Given the description of an element on the screen output the (x, y) to click on. 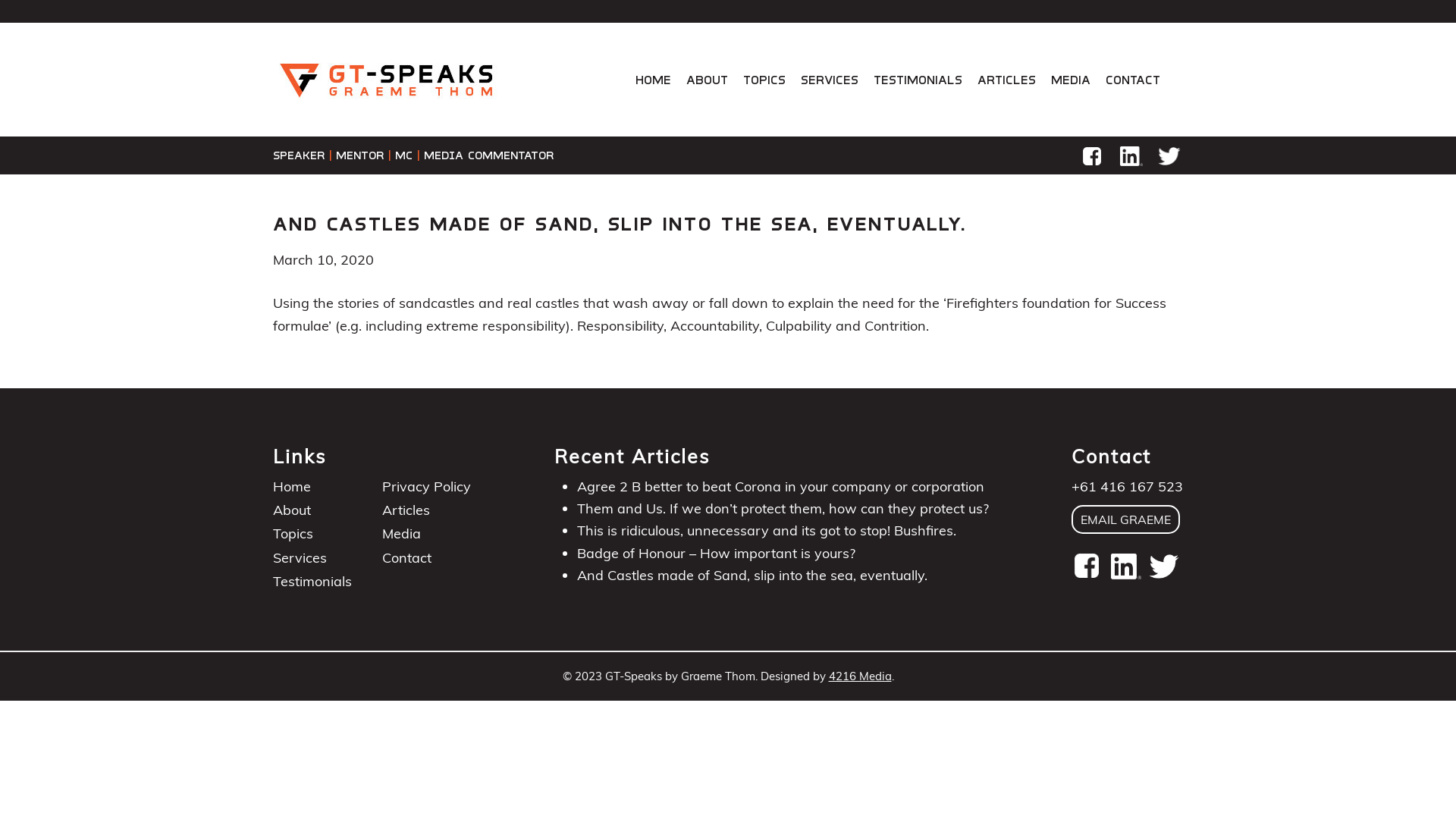
Topics Element type: text (293, 533)
Testimonials Element type: text (917, 79)
About Element type: text (291, 509)
About Element type: text (707, 79)
Skip to primary navigation Element type: text (22, 0)
Contact Element type: text (406, 556)
Services Element type: text (299, 556)
And Castles made of Sand, slip into the sea, eventually. Element type: text (751, 574)
Home Element type: text (653, 79)
Articles Element type: text (1006, 79)
EMAIL GRAEME Element type: text (1125, 519)
Topics Element type: text (764, 79)
Home Element type: text (291, 486)
Services Element type: text (829, 79)
4216 Media Element type: text (859, 675)
Testimonials Element type: text (312, 581)
Privacy Policy Element type: text (426, 486)
+61 416 167 523 Element type: text (1127, 486)
Articles Element type: text (405, 509)
Media Element type: text (401, 533)
Contact Element type: text (1132, 79)
Media Element type: text (1070, 79)
